Given the description of an element on the screen output the (x, y) to click on. 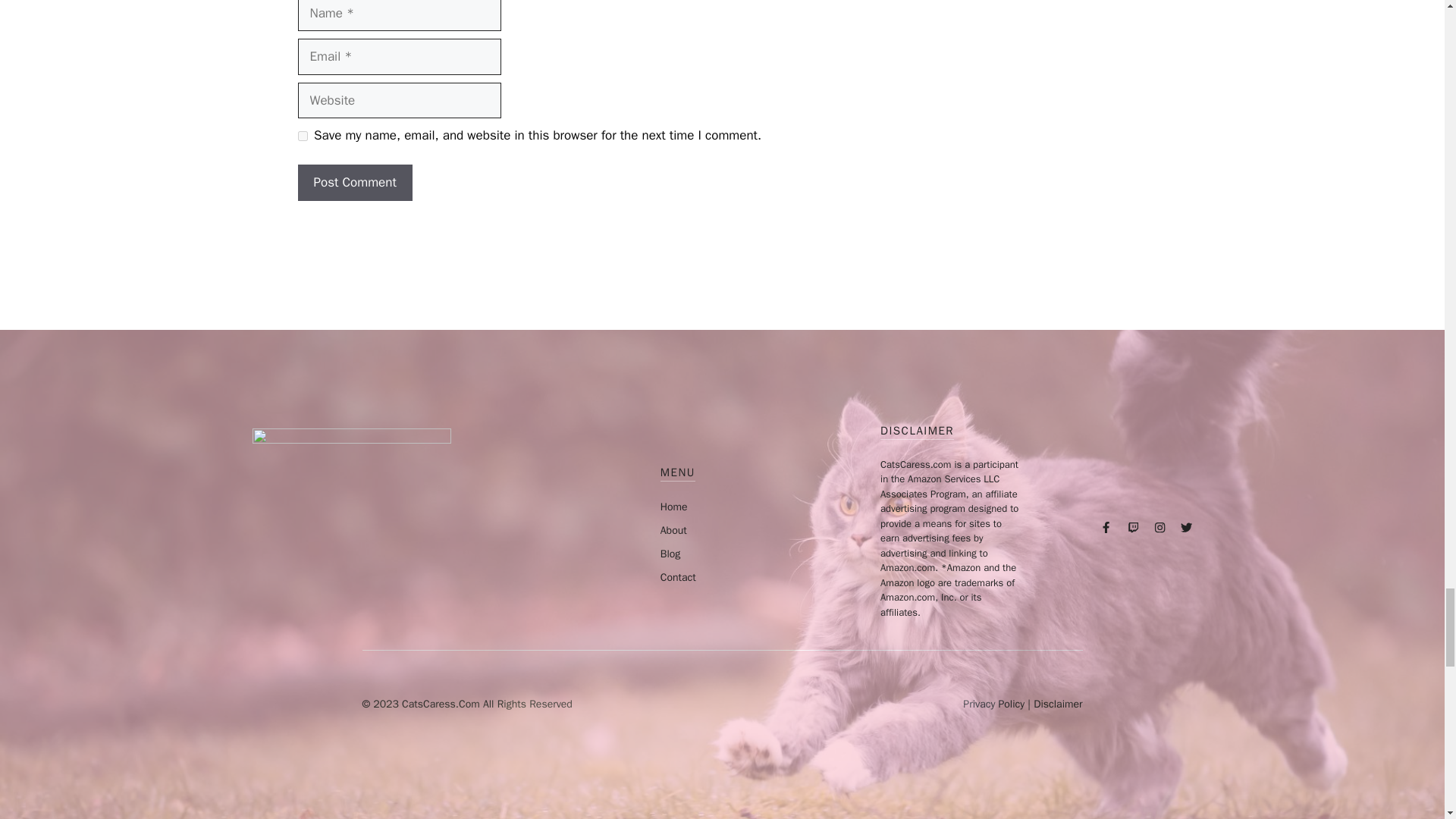
Blog (671, 553)
Home (674, 506)
Disclaimer (1057, 703)
Privacy Policy (993, 703)
Post Comment (354, 182)
yes (302, 135)
About (674, 530)
Post Comment (354, 182)
Contact (678, 576)
